Given the description of an element on the screen output the (x, y) to click on. 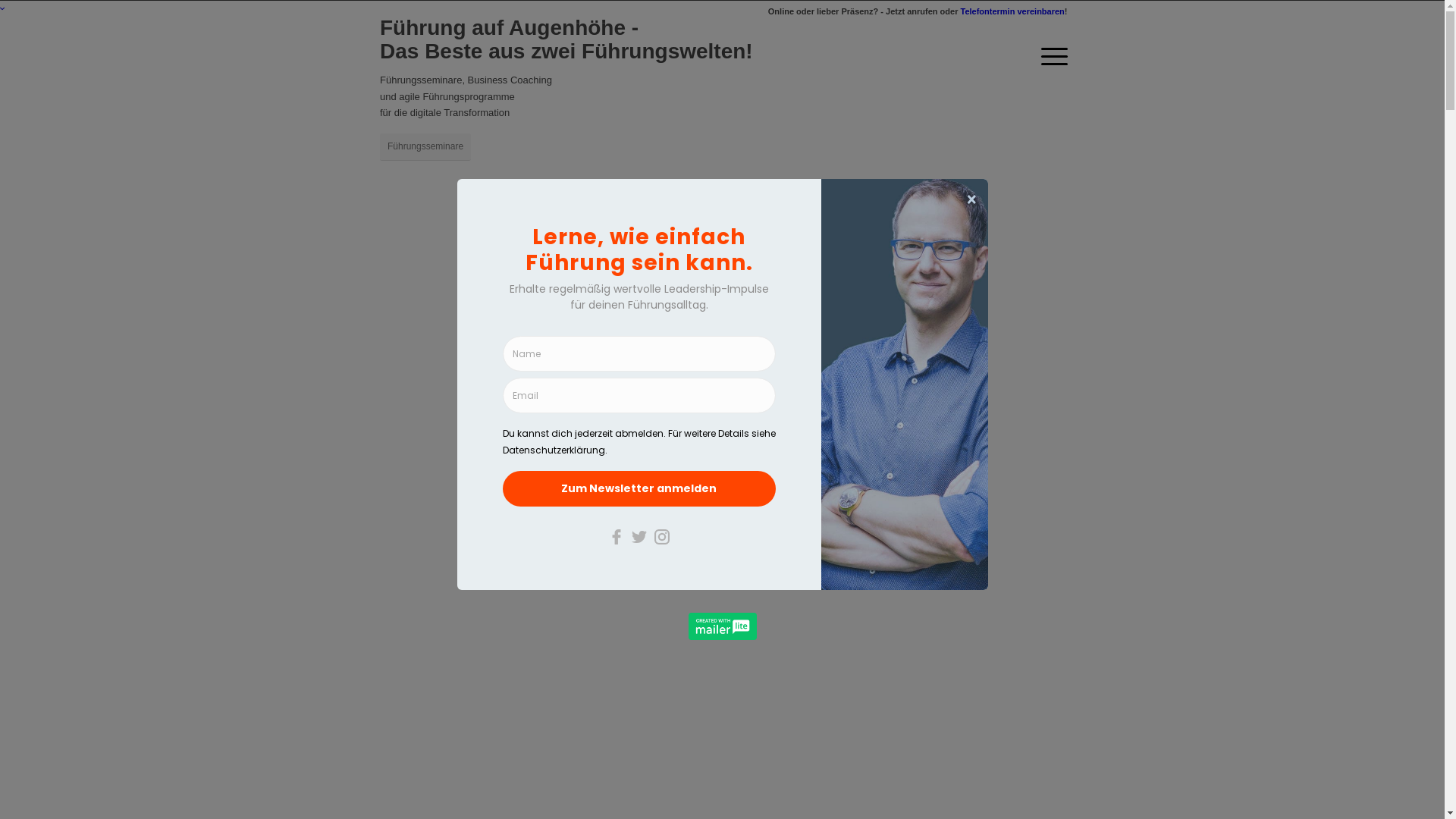
Coaching Element type: text (499, 146)
Telefontermin vereinbaren Element type: text (1011, 10)
